Given the description of an element on the screen output the (x, y) to click on. 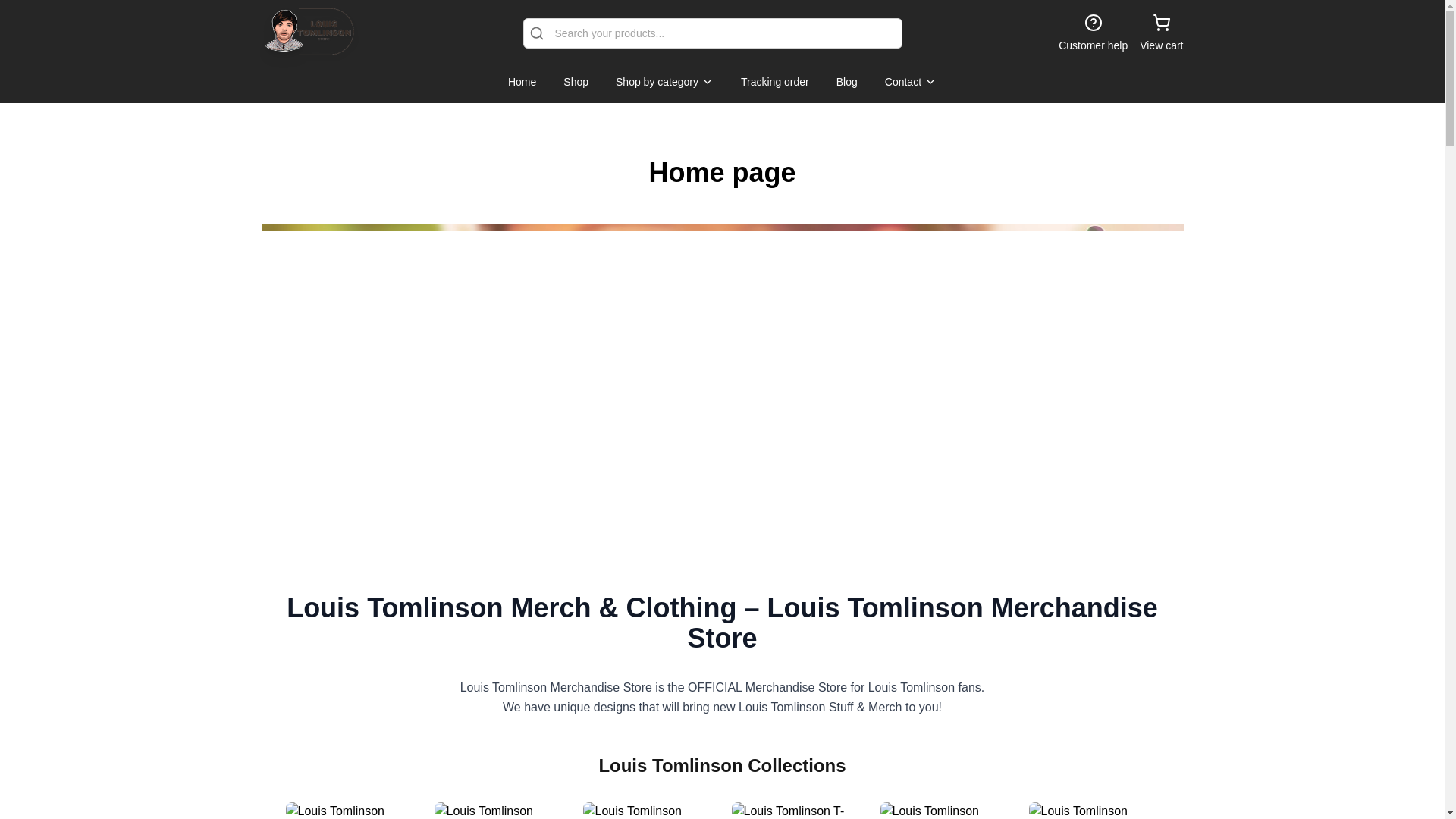
Tracking order (775, 81)
Contact (910, 81)
Blog (846, 81)
Louis Tomlinson T-Shirts (795, 810)
Customer help (1092, 33)
Louis Tomlinson Pillows (944, 810)
view cart (1161, 33)
Home (522, 81)
Shop by category (664, 81)
Shop (575, 81)
